Given the description of an element on the screen output the (x, y) to click on. 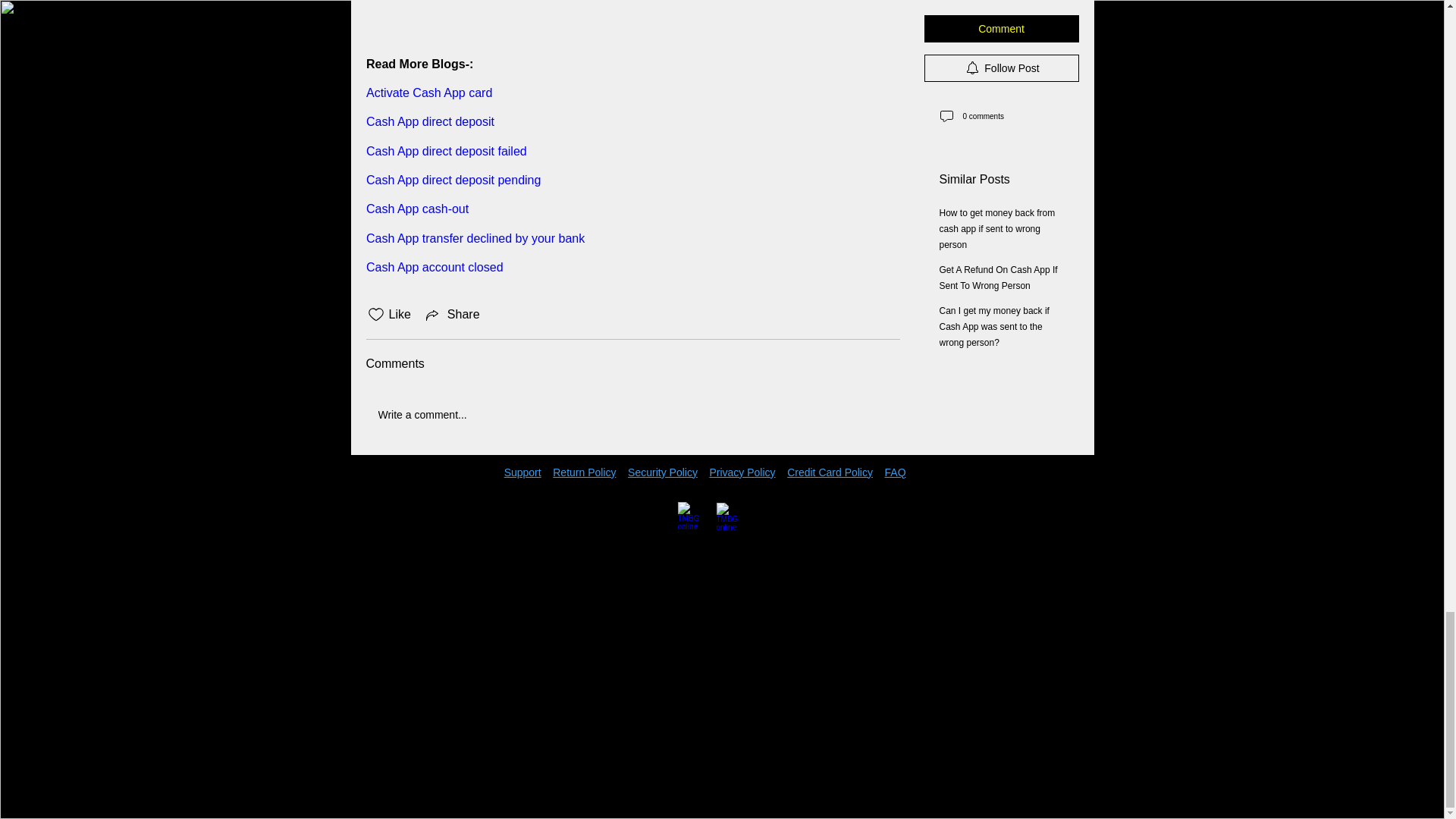
TMBG Online Bass Guitar Lessons Facebook (692, 517)
TMBG Online Bass Guitar Lessons Twitter (730, 517)
Facebook Like (398, 494)
